Given the description of an element on the screen output the (x, y) to click on. 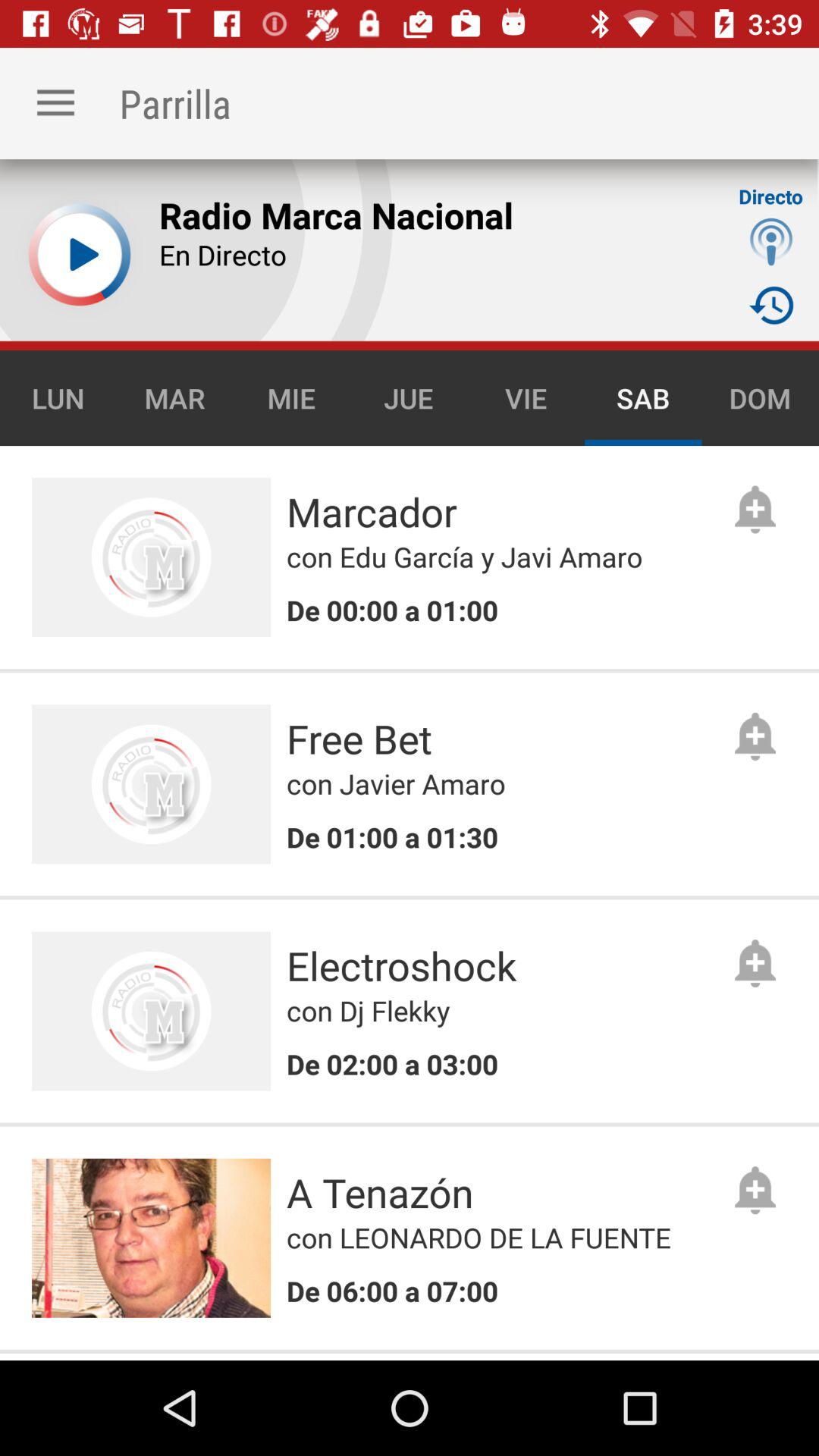
click on grey icon next to text free bet (755, 736)
click on timer icon (771, 305)
